Given the description of an element on the screen output the (x, y) to click on. 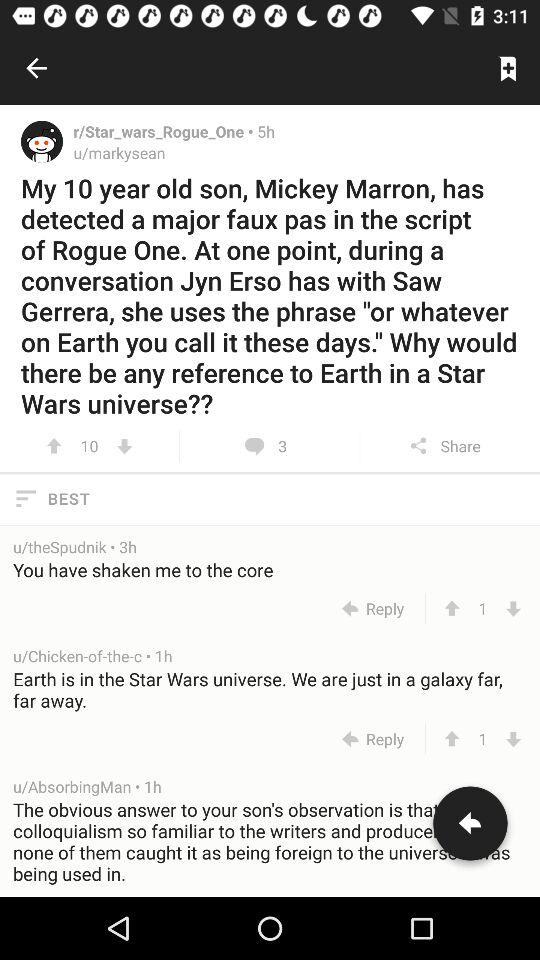
turn on the item to the left of 5h (165, 131)
